Given the description of an element on the screen output the (x, y) to click on. 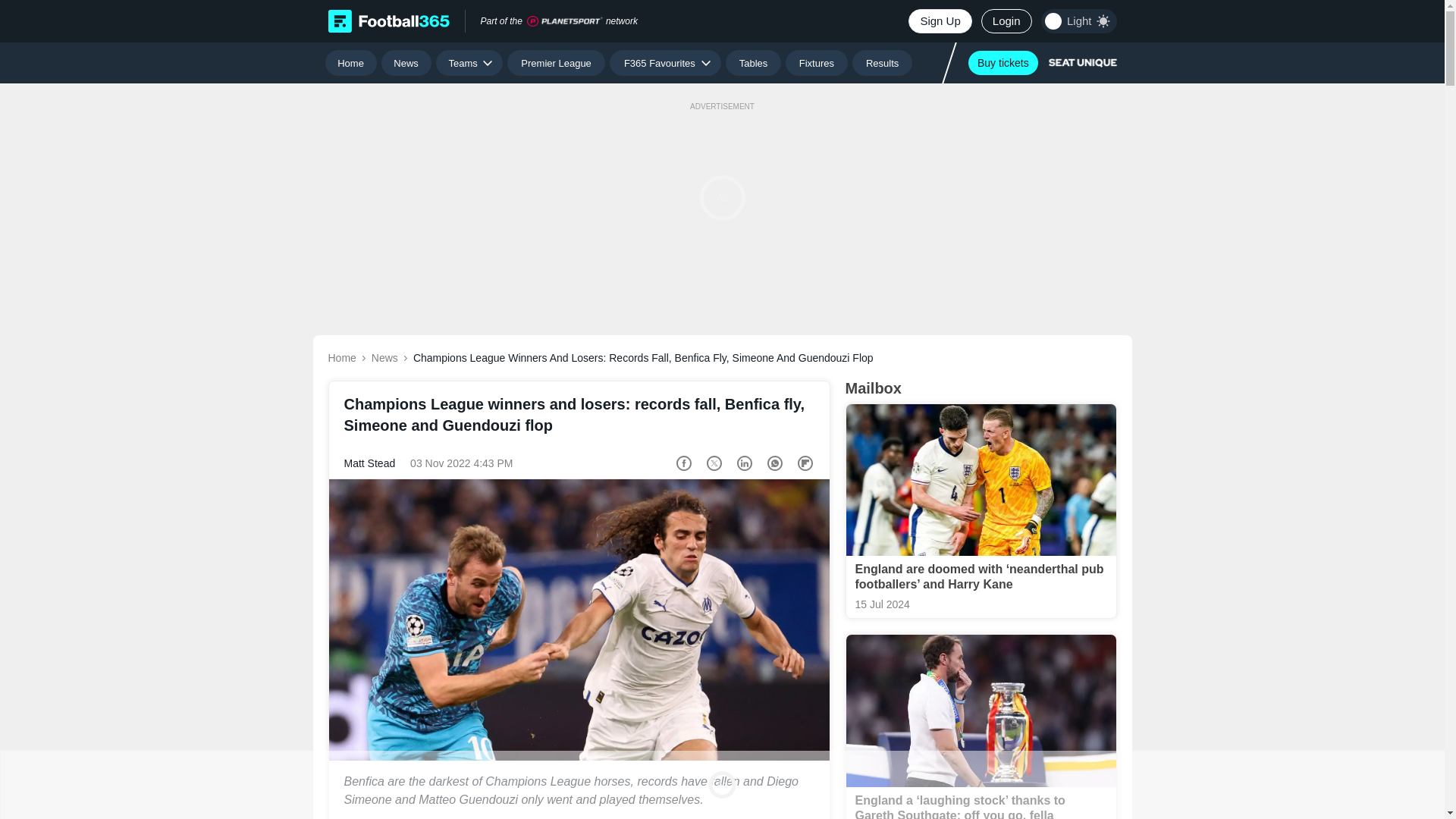
News (405, 62)
Tables (752, 62)
Premier League (555, 62)
Home (349, 62)
Results (881, 62)
Sign Up (939, 21)
Teams (468, 62)
F365 Favourites (665, 62)
Fixtures (817, 62)
Login (1006, 21)
